Given the description of an element on the screen output the (x, y) to click on. 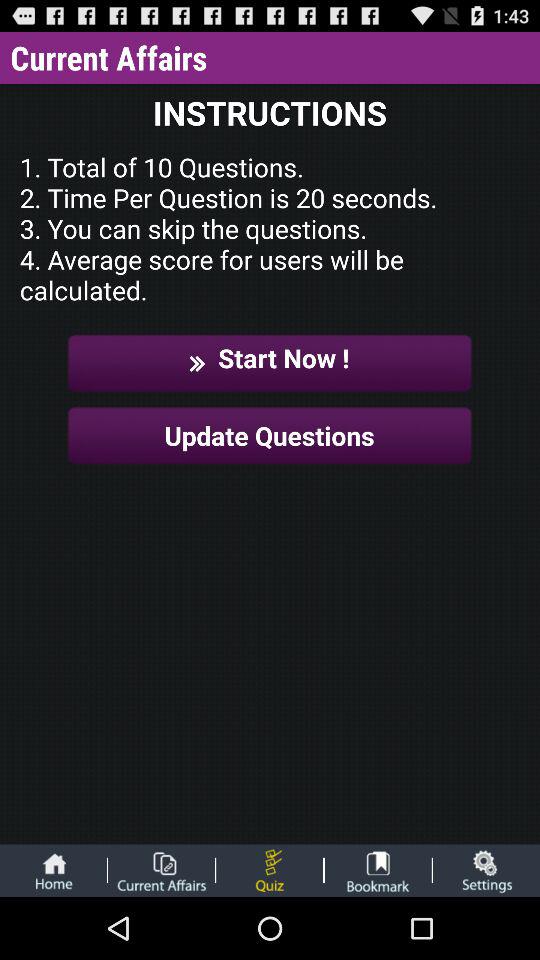
jump until update questions button (269, 435)
